Given the description of an element on the screen output the (x, y) to click on. 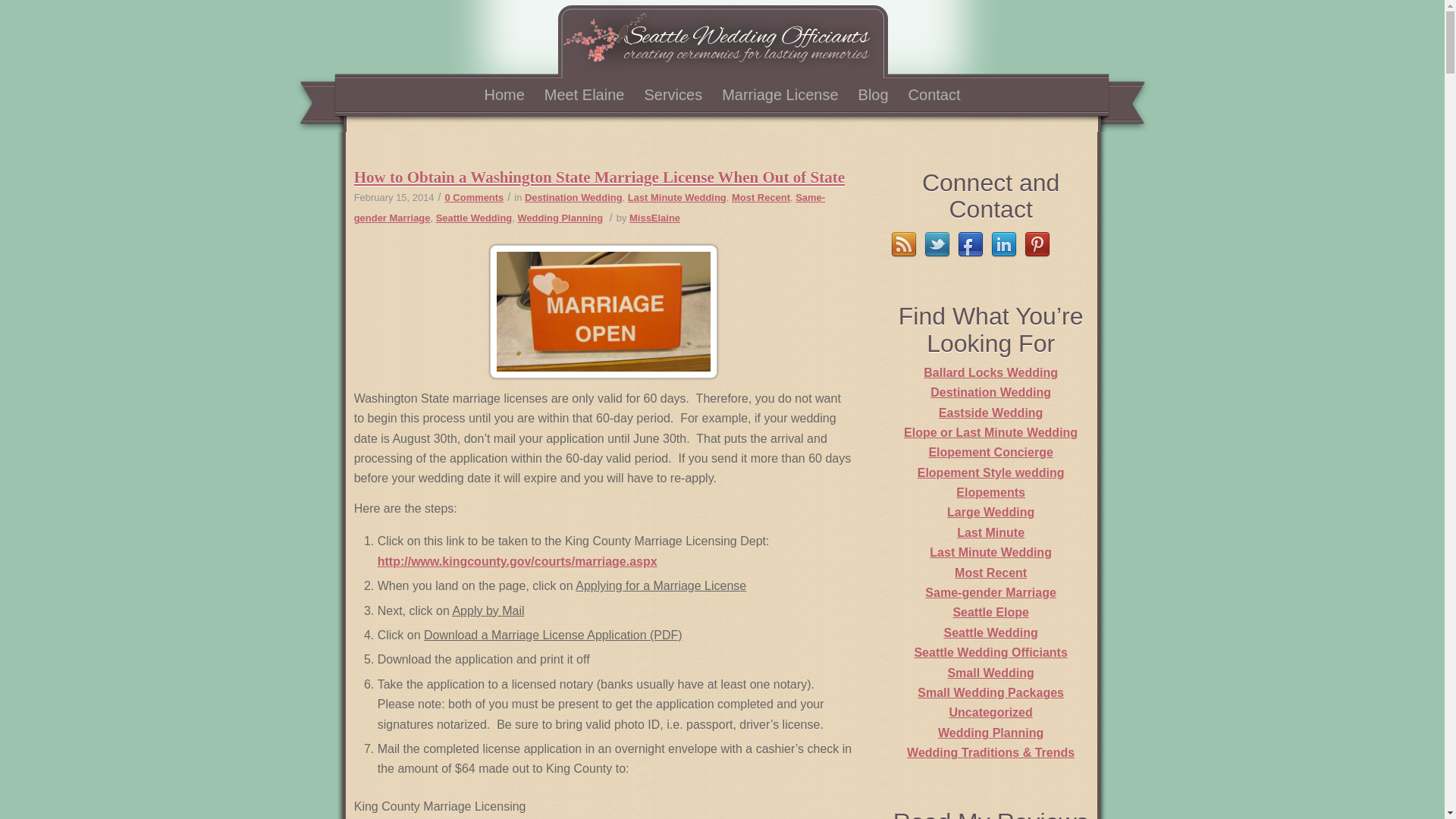
Home (504, 94)
Posts by MissElaine (653, 217)
Marriage License (779, 94)
Meet Elaine (584, 94)
Most Recent (761, 197)
Destination Wedding (573, 197)
0 Comments (474, 197)
Last Minute Wedding (676, 197)
Seattle Wedding (473, 217)
Wedding Planning (559, 217)
Same-gender Marriage (589, 207)
MissElaine (653, 217)
Services (672, 94)
